Given the description of an element on the screen output the (x, y) to click on. 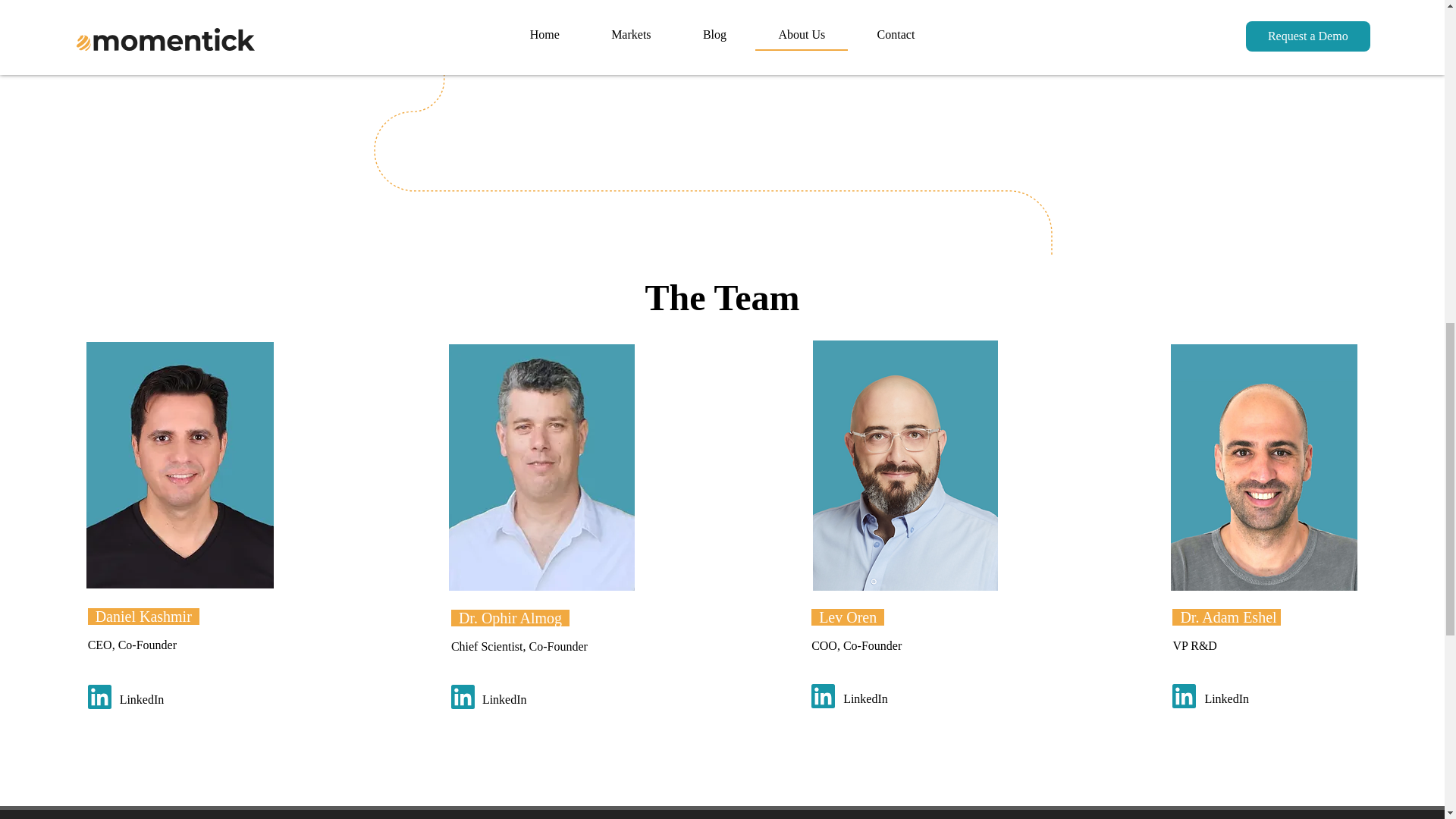
LinkedIn (159, 700)
LinkedIn (521, 700)
LinkedIn (1244, 699)
LinkedIn (883, 699)
